Given the description of an element on the screen output the (x, y) to click on. 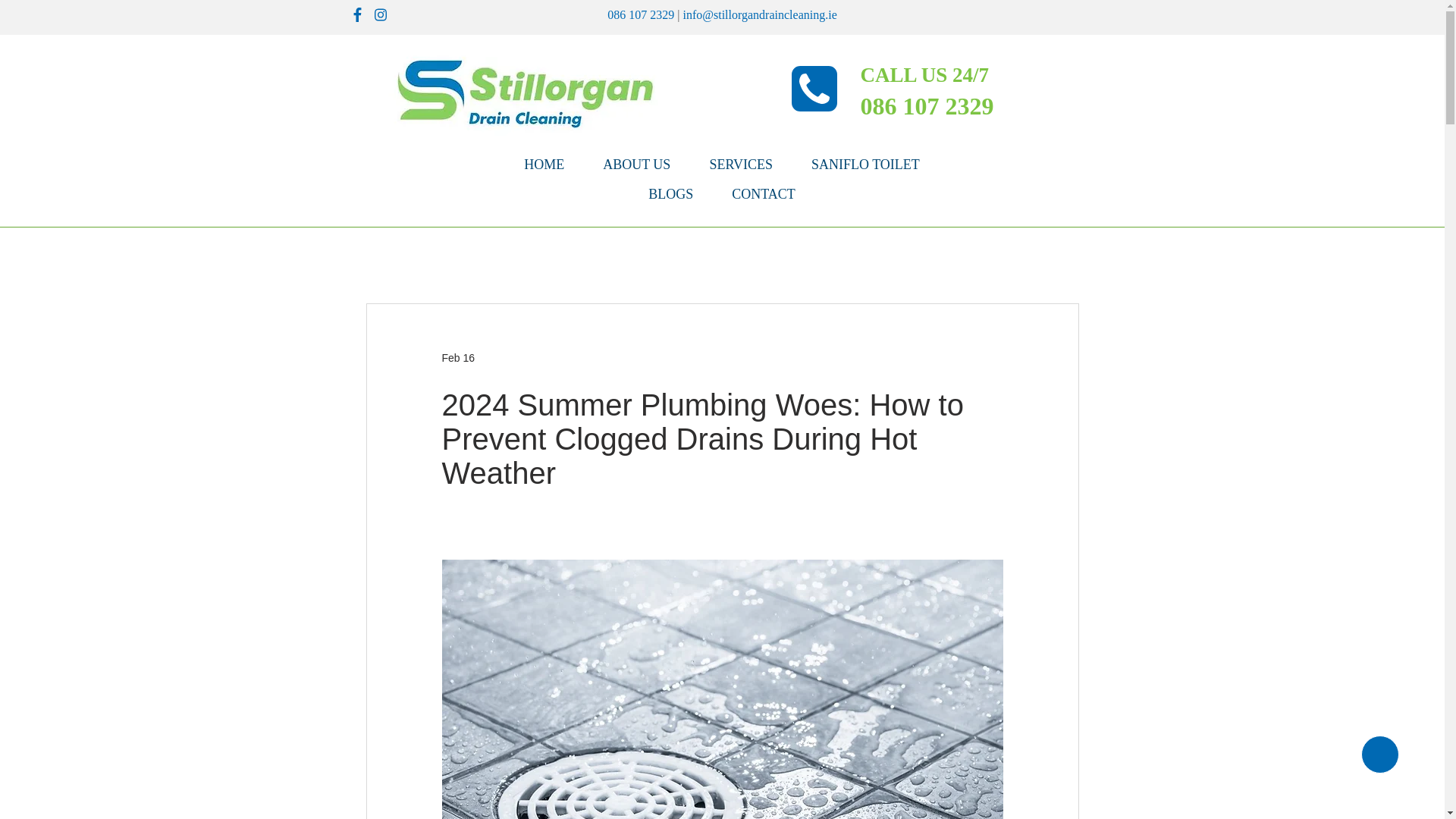
086 107 2329 (926, 105)
BLOGS (670, 194)
CONTACT (764, 194)
ABOUT US (636, 164)
SANIFLO TOILET (865, 164)
Feb 16 (457, 357)
086 107 2329 (640, 14)
HOME (544, 164)
